Given the description of an element on the screen output the (x, y) to click on. 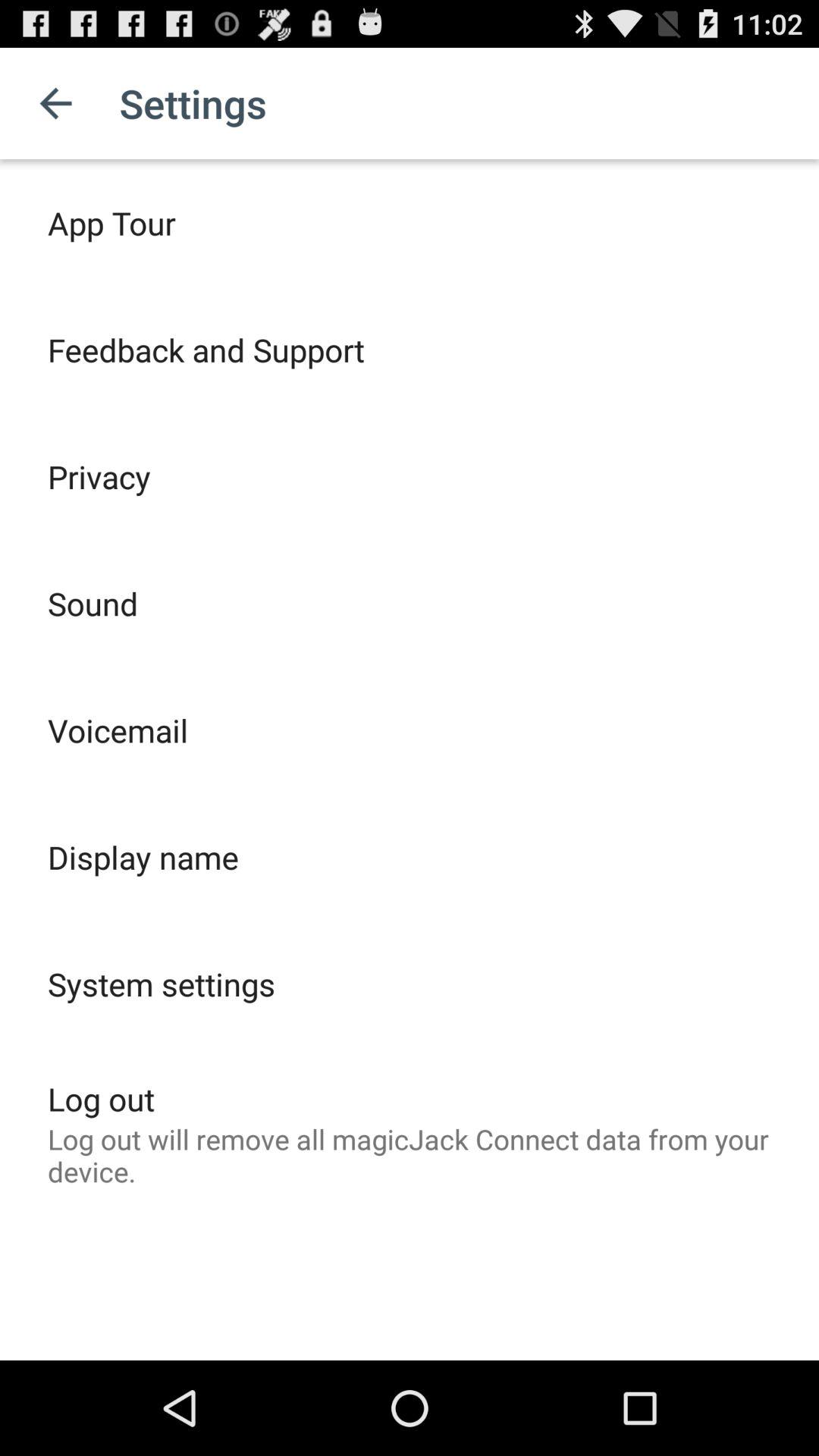
launch the item next to the settings icon (55, 103)
